Given the description of an element on the screen output the (x, y) to click on. 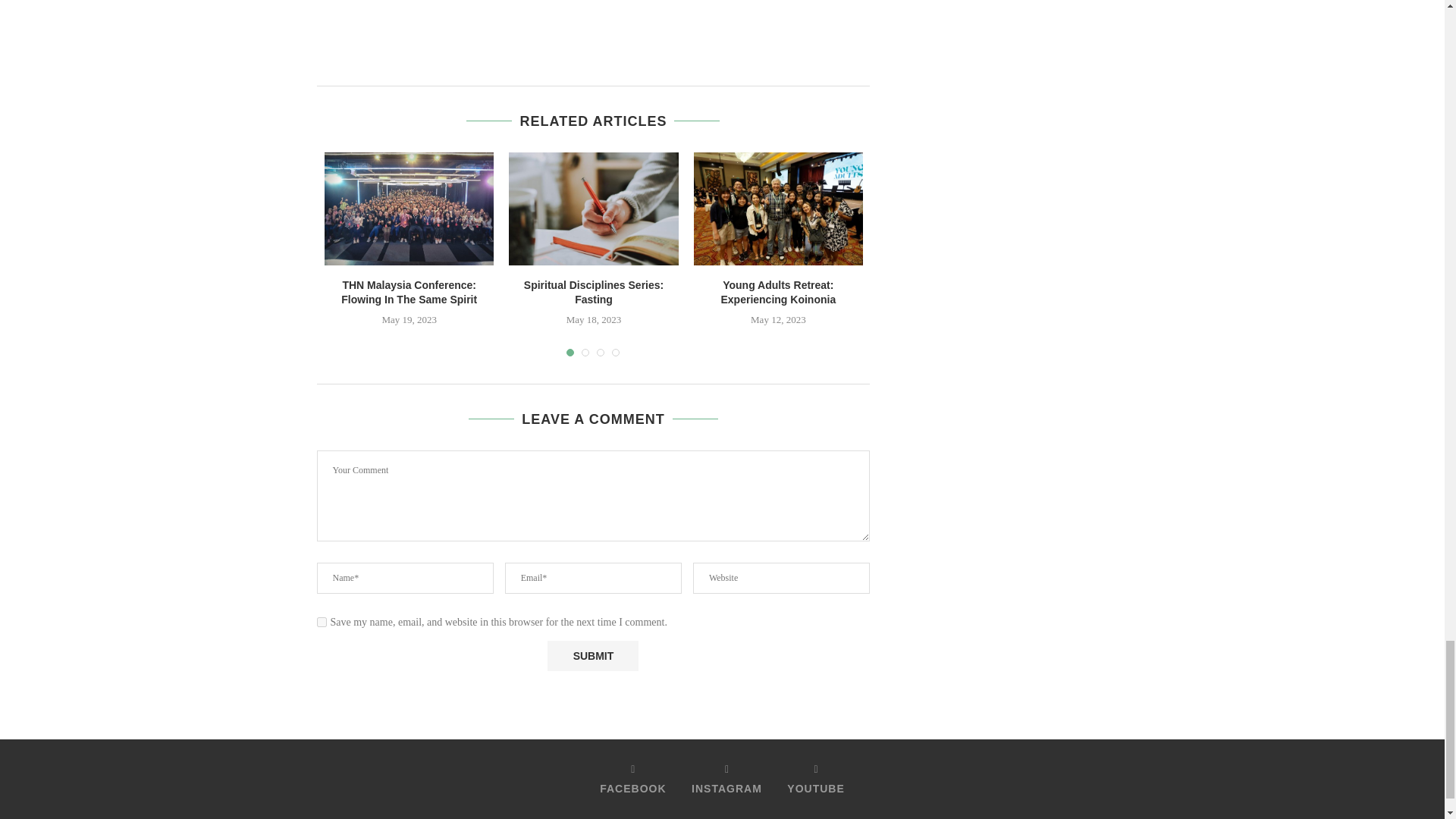
Submit (593, 655)
Spiritual Disciplines Series: Fasting (593, 208)
yes (321, 622)
Young Adults Retreat: Experiencing Koinonia (778, 208)
THN Malaysia Conference: Flowing In The Same Spirit (408, 208)
